Given the description of an element on the screen output the (x, y) to click on. 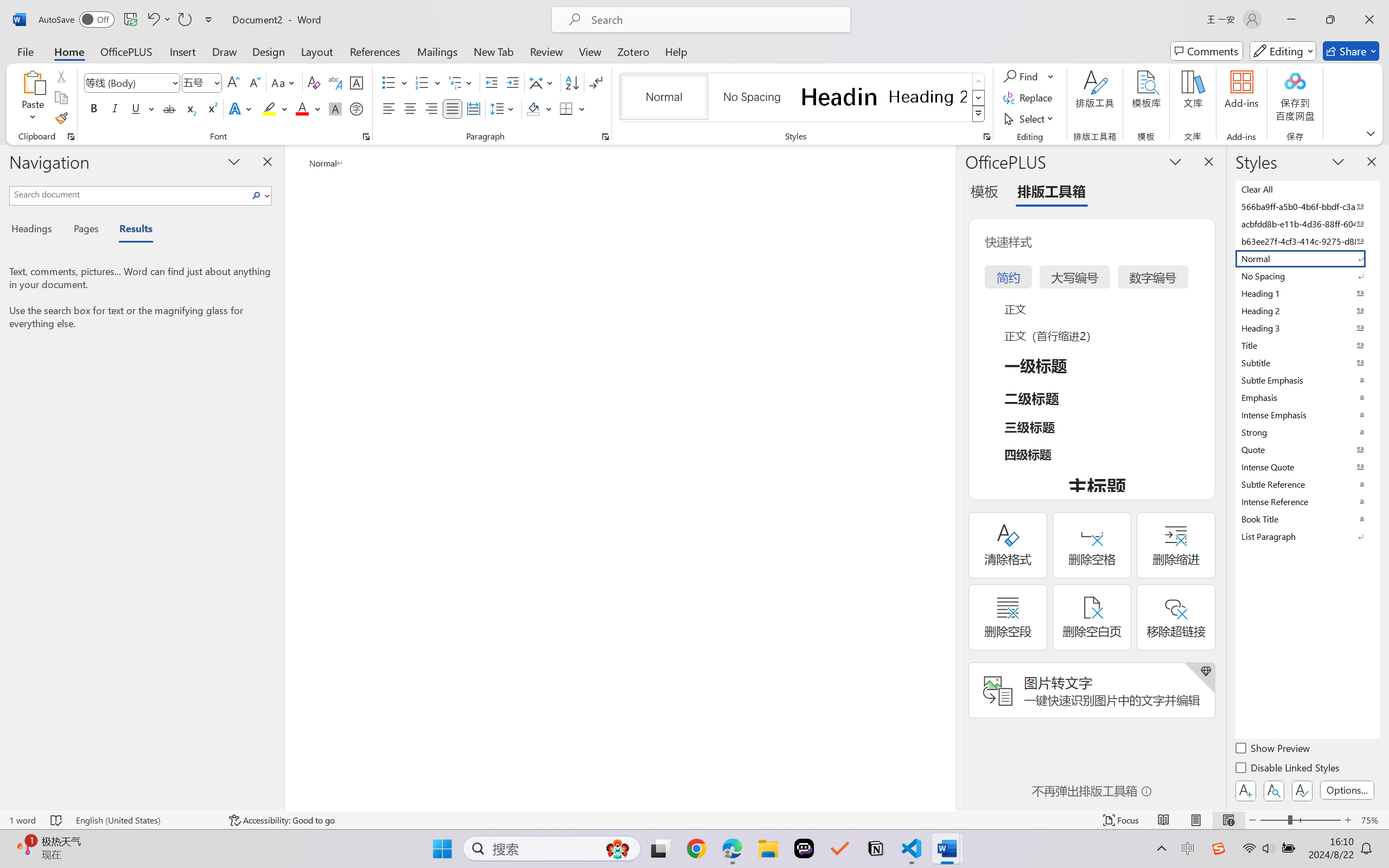
Office Clipboard... (70, 136)
Restore Down (1330, 19)
AutoSave (76, 19)
Change Case (284, 82)
Normal (1306, 258)
View (589, 51)
Phonetic Guide... (334, 82)
